Given the description of an element on the screen output the (x, y) to click on. 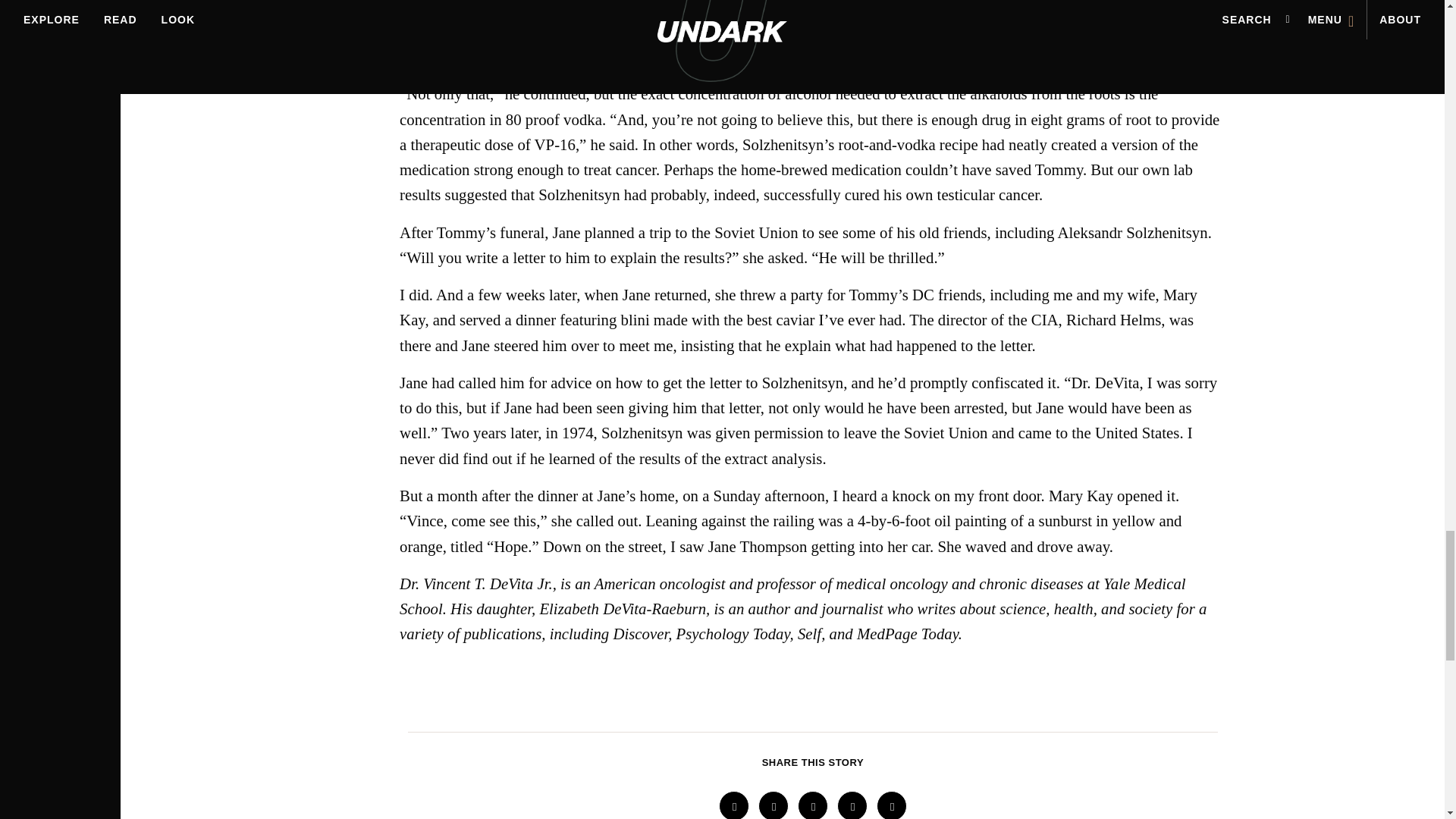
Click to share on Twitter (773, 805)
Click to share on Reddit (812, 805)
Click to share on Facebook (734, 805)
Click to share on FlipBoard (852, 805)
Click to share on Pocket (891, 805)
